Given the description of an element on the screen output the (x, y) to click on. 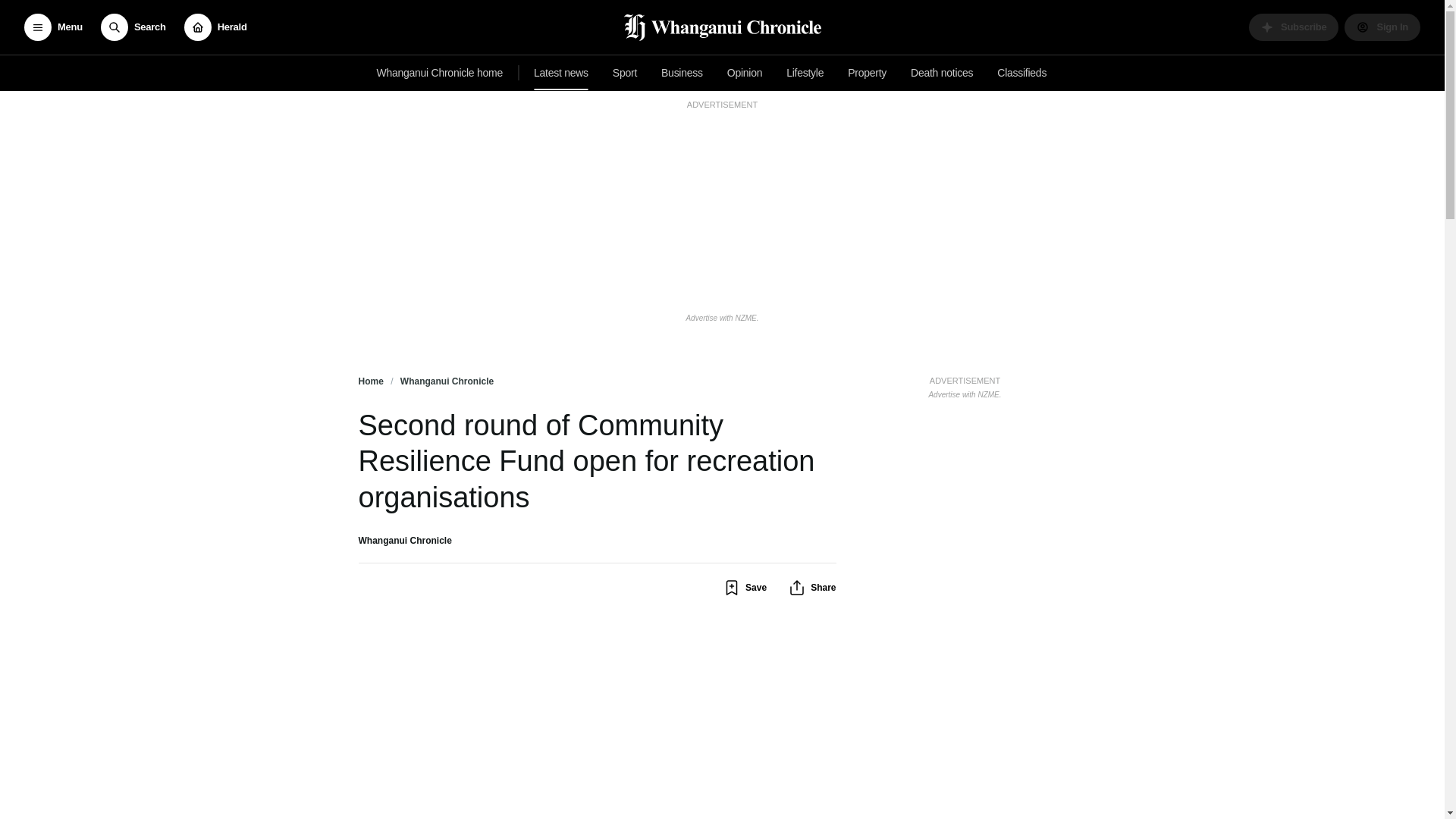
Latest news (560, 72)
Classifieds (1021, 72)
Property (964, 384)
Lifestyle (866, 72)
Opinion (804, 72)
Death notices (744, 72)
Sport (941, 72)
Manage your account (625, 72)
Sign In (1382, 26)
Menu (1382, 26)
Search (53, 26)
Business (132, 26)
Herald (681, 72)
Subscribe (215, 26)
